Given the description of an element on the screen output the (x, y) to click on. 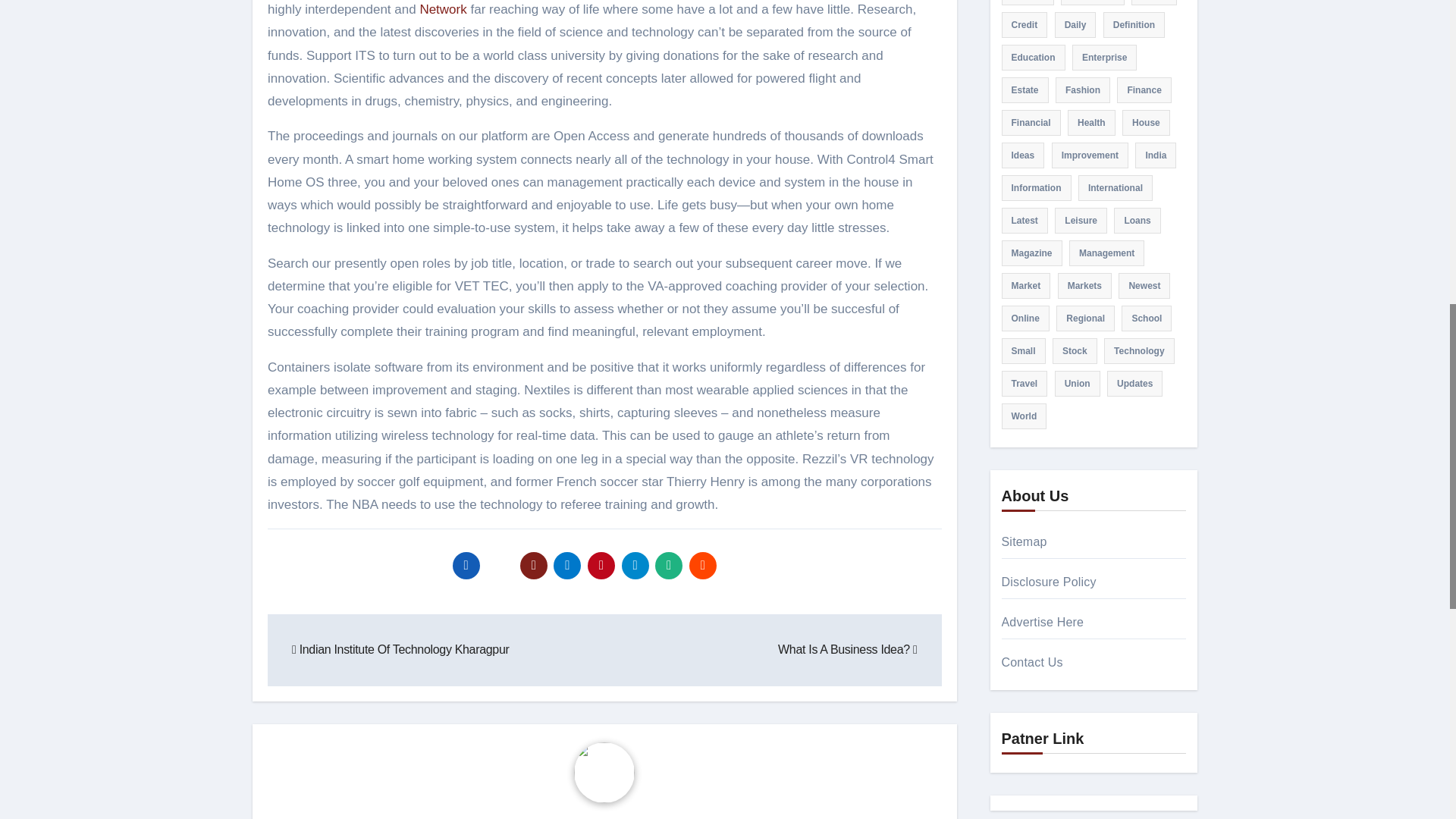
Indian Institute Of Technology Kharagpur (400, 649)
Network (442, 9)
Kay (618, 817)
What Is A Business Idea? (847, 649)
